Given the description of an element on the screen output the (x, y) to click on. 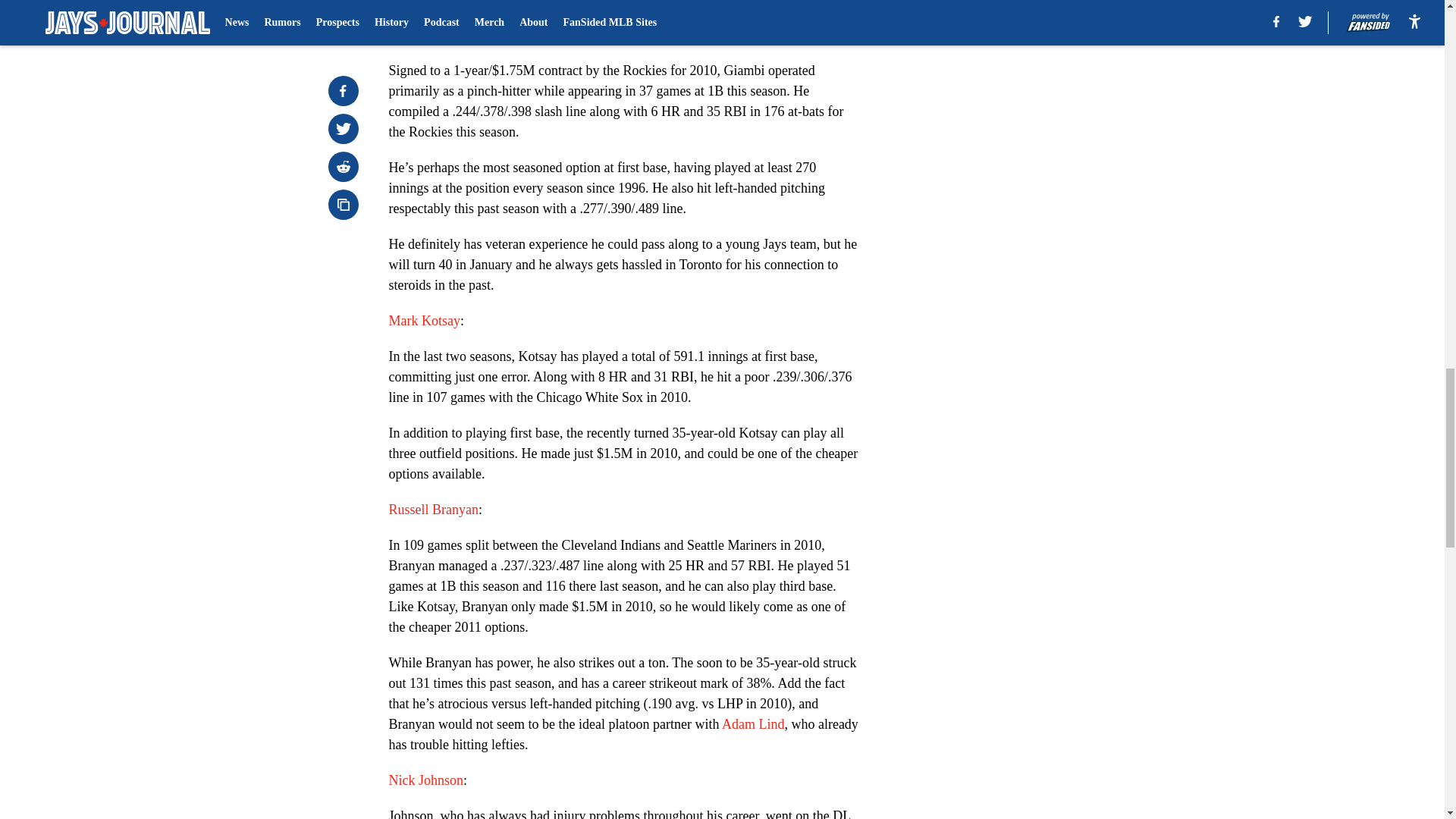
Russell Branyan (433, 509)
Nick Johnson (425, 780)
Adam Lind (753, 724)
Jason Giambi (425, 34)
Mark Kotsay (424, 320)
